Given the description of an element on the screen output the (x, y) to click on. 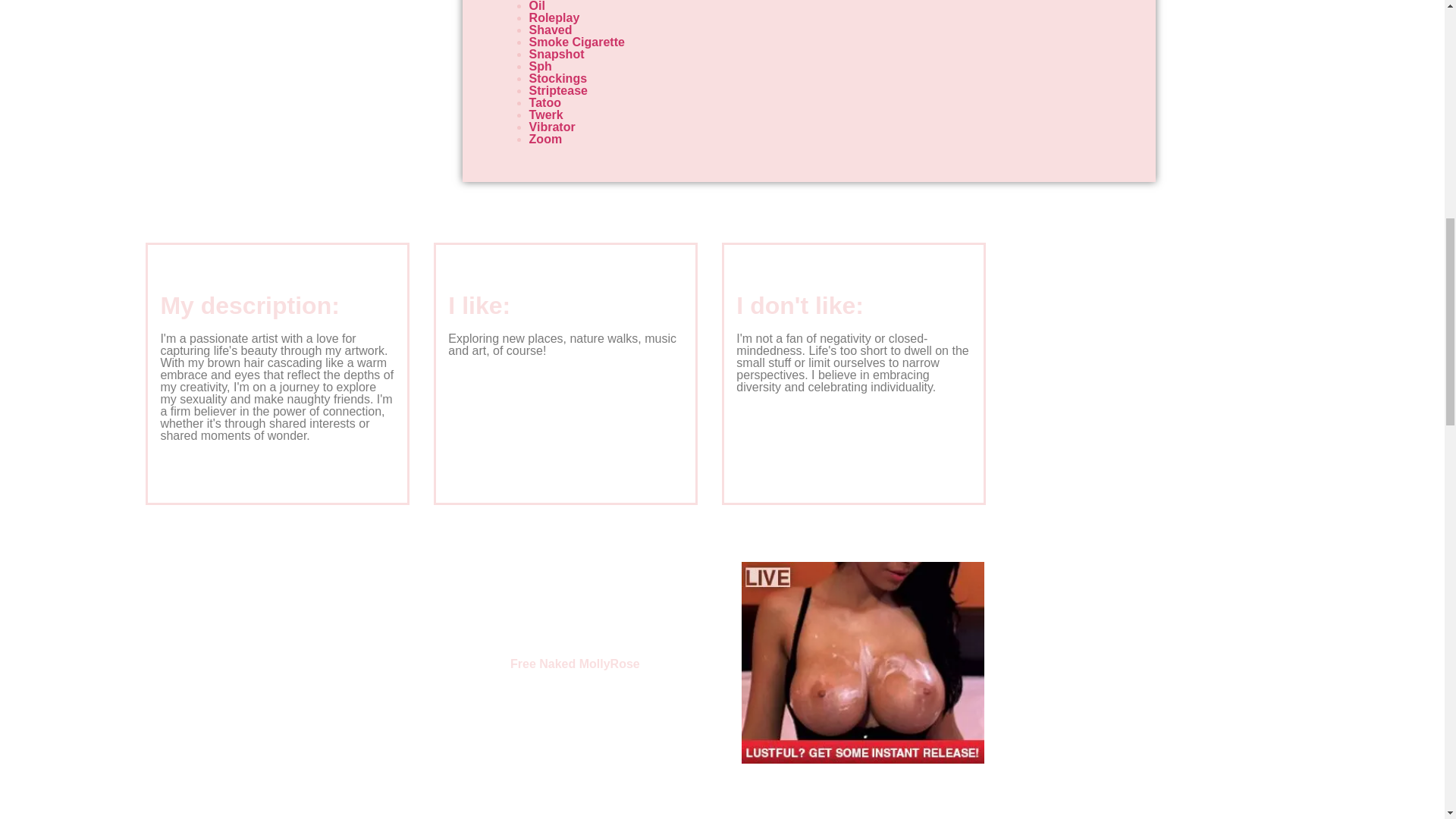
Oil (536, 6)
Roleplay (554, 17)
Zoom (545, 138)
Striptease (558, 90)
Oil (536, 6)
Twerk (546, 114)
Snapshot (557, 53)
Free Naked MollyRose (575, 663)
Vibrator (552, 126)
Roleplay (554, 17)
Stockings (557, 78)
Smoke Cigarette (576, 42)
Tatoo (544, 102)
Sph (540, 65)
Shaved (550, 29)
